Given the description of an element on the screen output the (x, y) to click on. 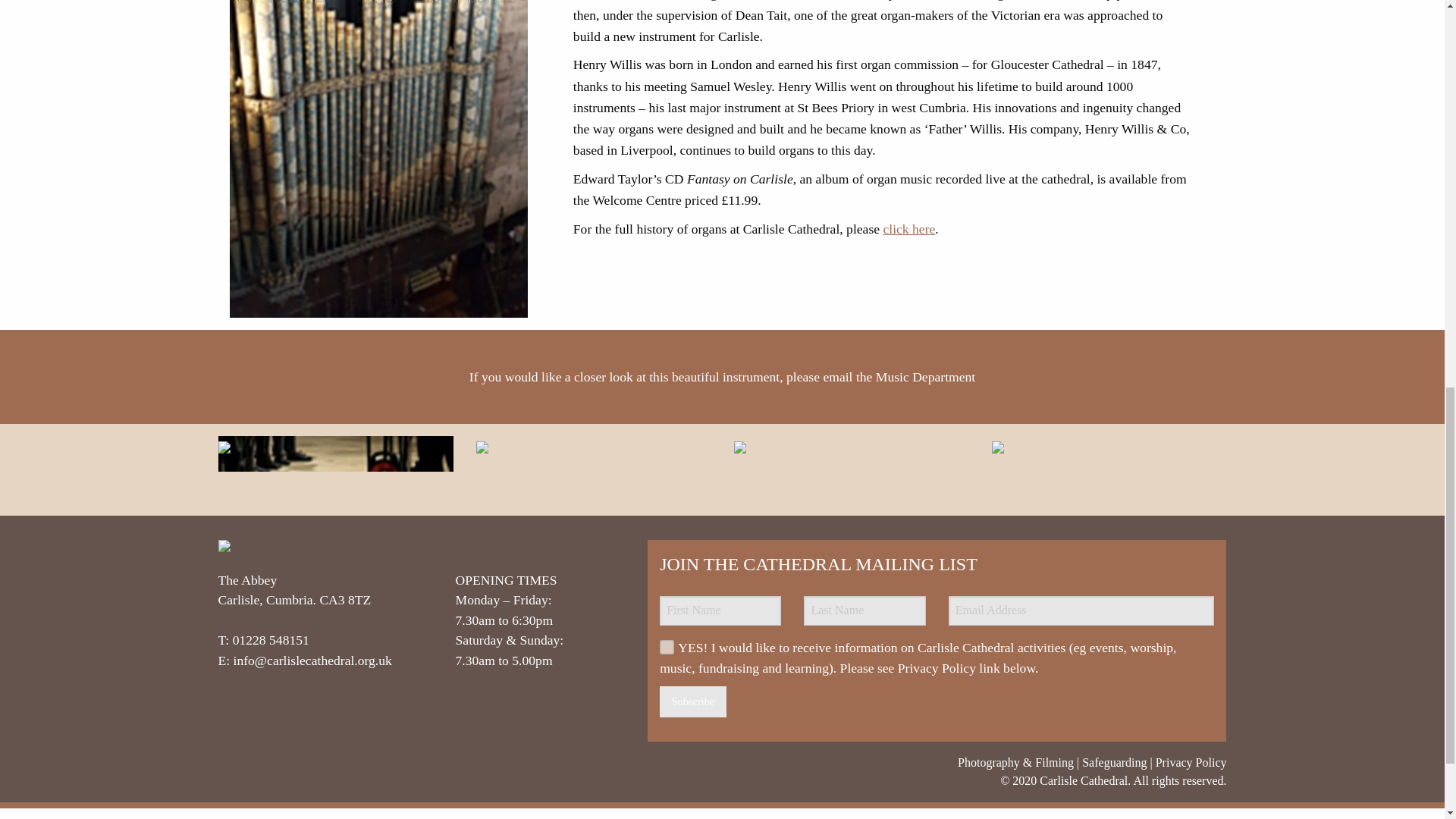
Subscribe (692, 701)
Y (664, 644)
